Given the description of an element on the screen output the (x, y) to click on. 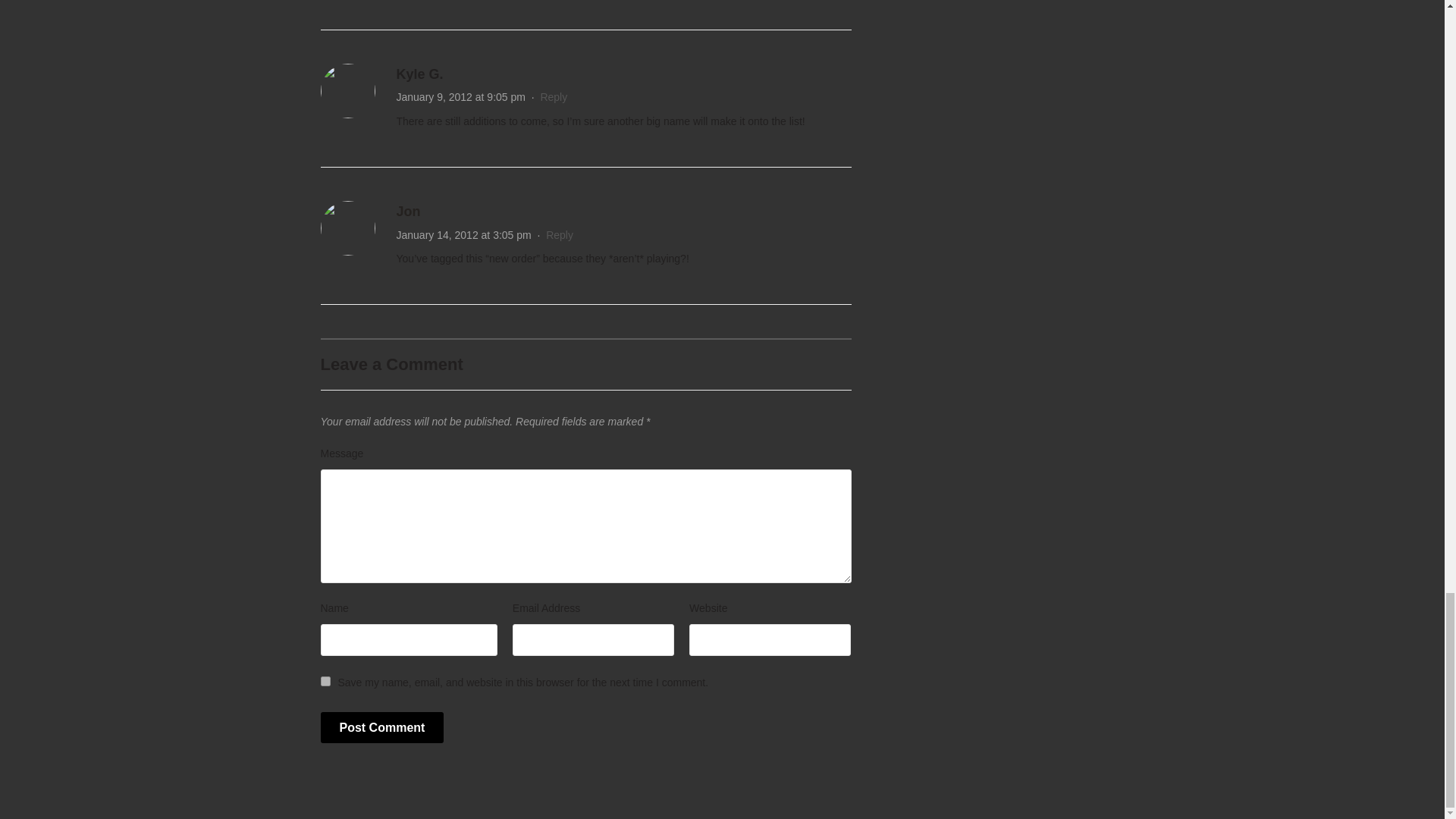
yes (325, 681)
Post Comment (382, 727)
